Given the description of an element on the screen output the (x, y) to click on. 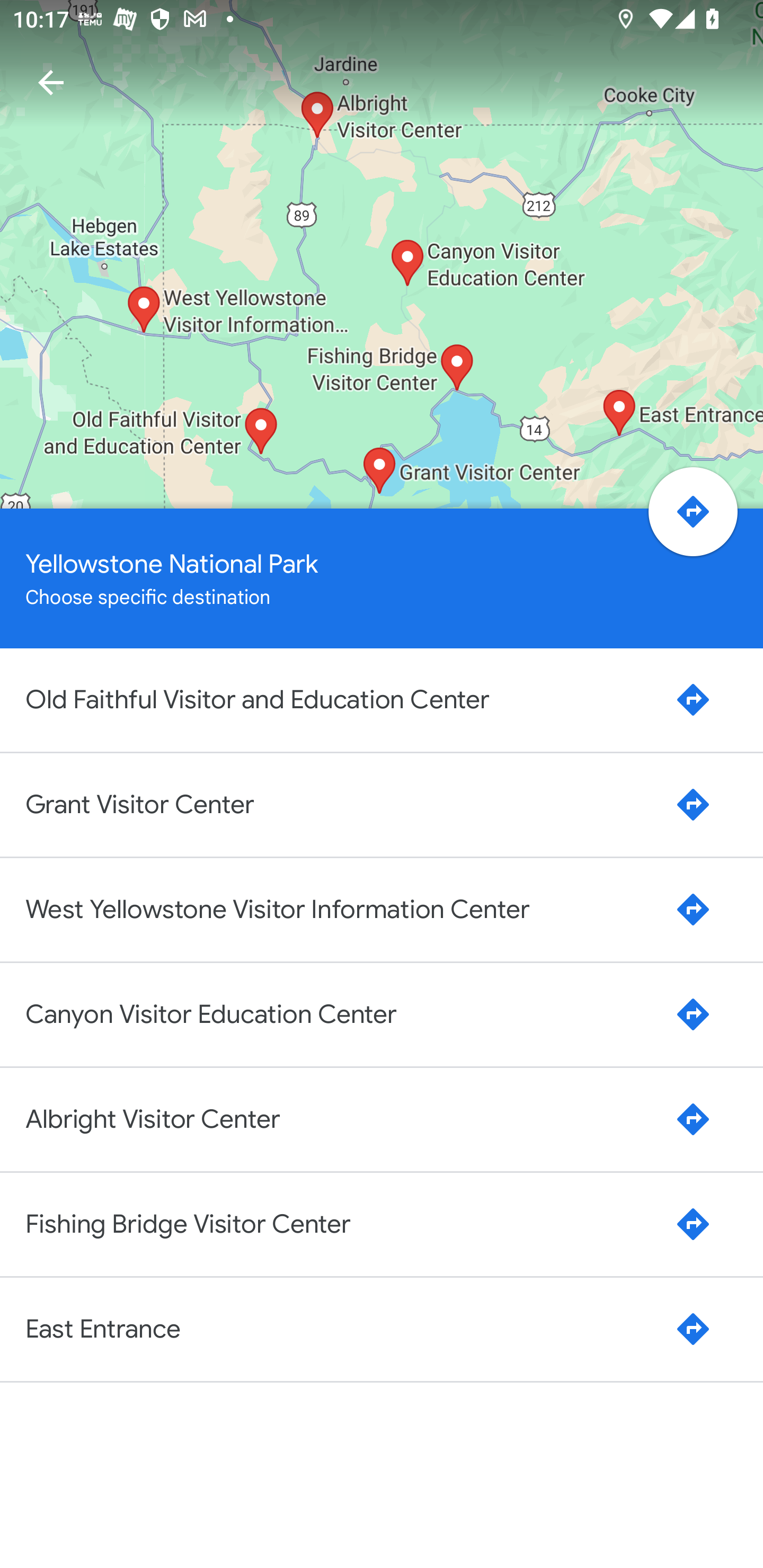
Navigate up (50, 81)
Old Faithful Visitor and Education Center (339, 699)
Grant Visitor Center (339, 804)
Directions to Grant Visitor Center (692, 804)
West Yellowstone Visitor Information Center (339, 909)
Canyon Visitor Education Center (339, 1014)
Directions to Canyon Visitor Education Center (692, 1014)
Albright Visitor Center (339, 1119)
Directions to Albright Visitor Center (692, 1119)
Fishing Bridge Visitor Center (339, 1224)
Directions to Fishing Bridge Visitor Center (692, 1223)
East Entrance (339, 1329)
Directions to East Entrance (692, 1328)
